Given the description of an element on the screen output the (x, y) to click on. 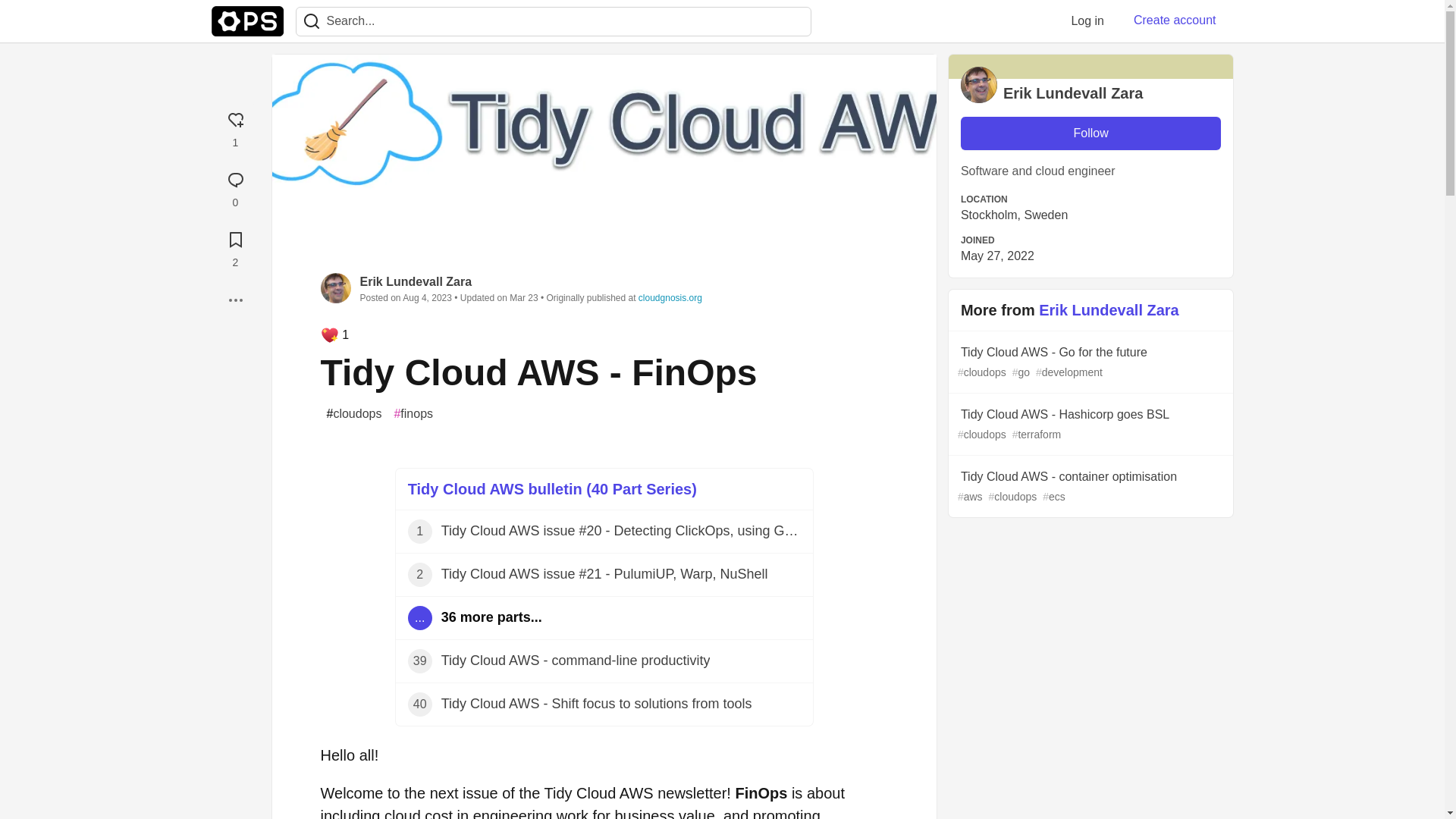
cloudgnosis.org (670, 297)
Erik Lundevall Zara (415, 281)
Friday, August 4, 2023 at 6:19:52 PM (427, 297)
More... (234, 299)
2 (235, 247)
Saturday, March 23, 2024 at 11:55:42 PM (523, 297)
Published Aug 10 '22 (604, 531)
Published Aug 10 '22 (604, 575)
View more (604, 618)
More... (234, 300)
Create account (1174, 20)
Log in (1087, 20)
0 (235, 187)
